Given the description of an element on the screen output the (x, y) to click on. 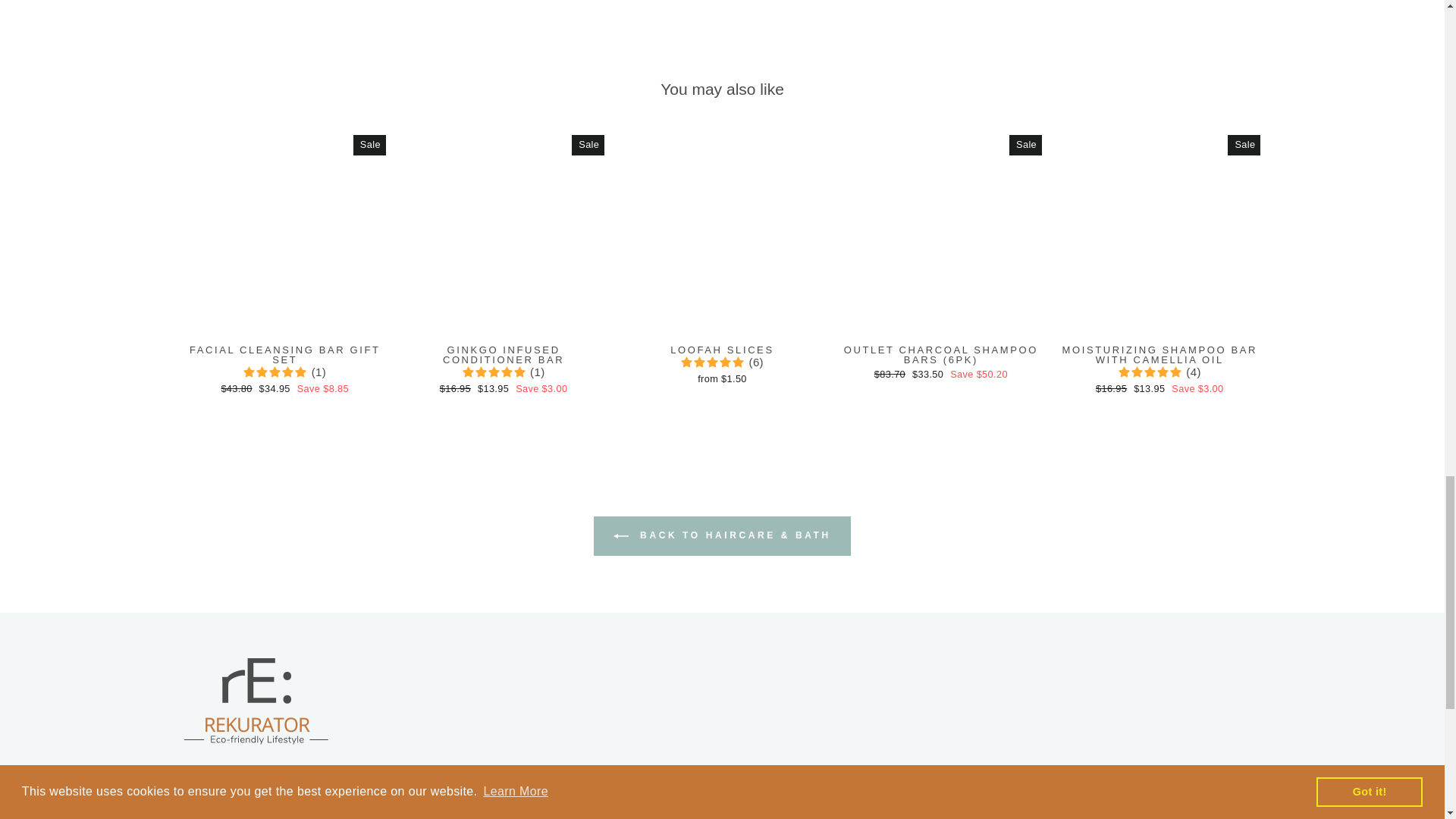
Product reviews widget (721, 12)
